Given the description of an element on the screen output the (x, y) to click on. 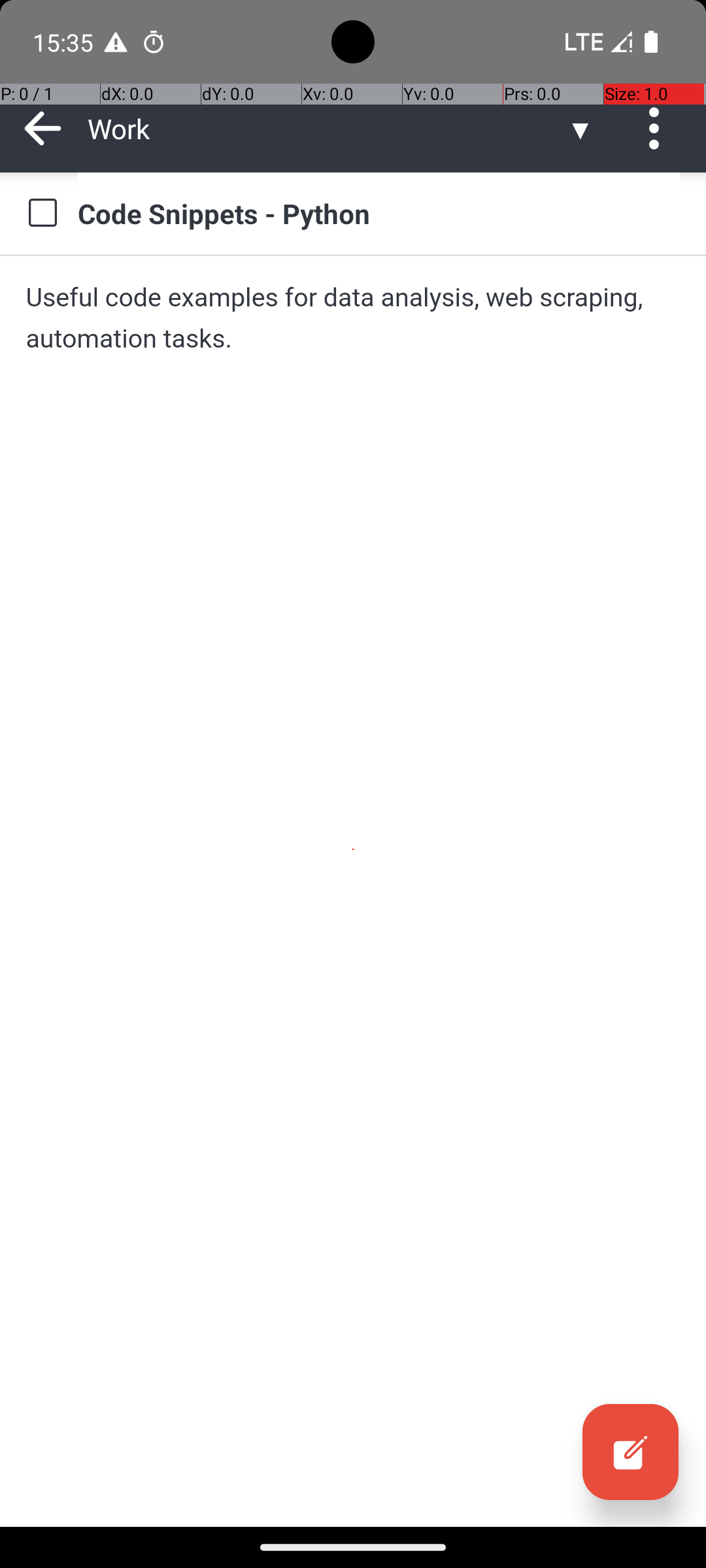
Work Element type: android.widget.TextView (326, 128)
Useful code examples for data analysis, web scraping, automation tasks. Element type: android.widget.TextView (352, 317)
